Given the description of an element on the screen output the (x, y) to click on. 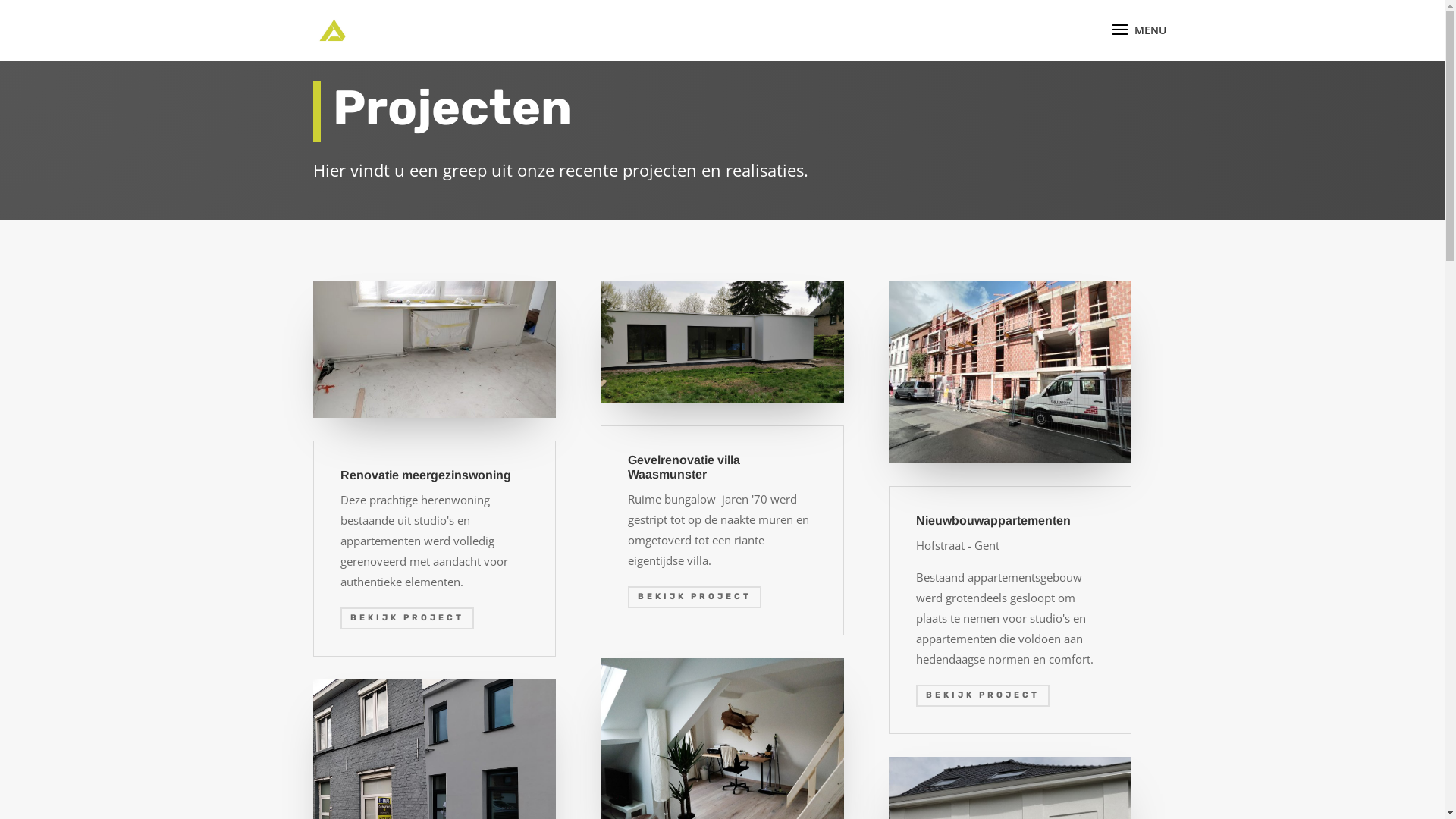
BEKIJK PROJECT Element type: text (982, 695)
BEKIJK PROJECT Element type: text (406, 618)
BEKIJK PROJECT Element type: text (694, 597)
